Given the description of an element on the screen output the (x, y) to click on. 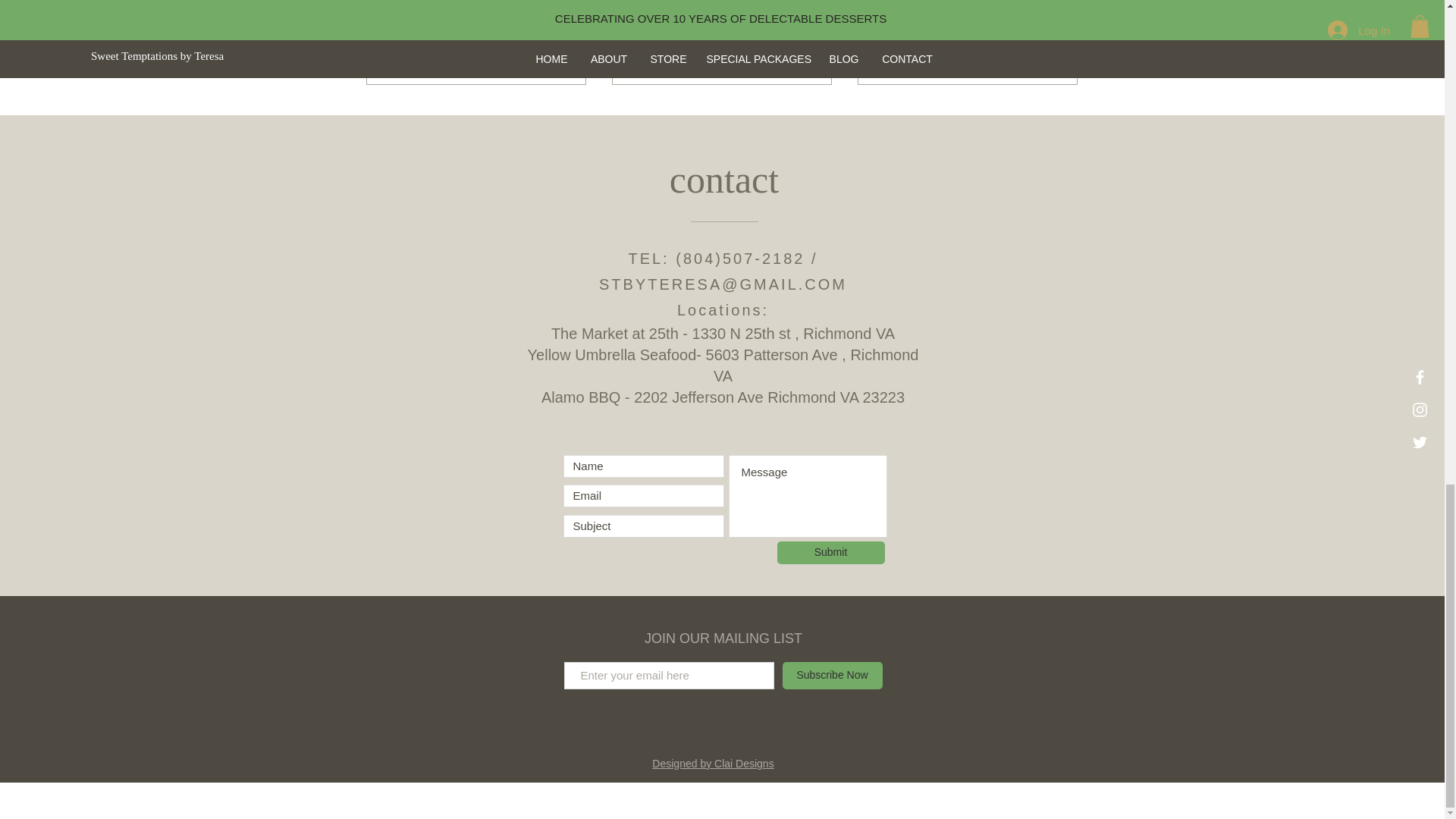
0 (931, 58)
Black History Month Spotlight: Dr. Marilyn Hughes Gaston (721, 11)
Black History Month Spotlight: Cleora Butler (800, 58)
0 (476, 11)
0 (681, 58)
Submit (1046, 58)
Subscribe Now (440, 58)
Women's History Month Spotlight (555, 58)
